Given the description of an element on the screen output the (x, y) to click on. 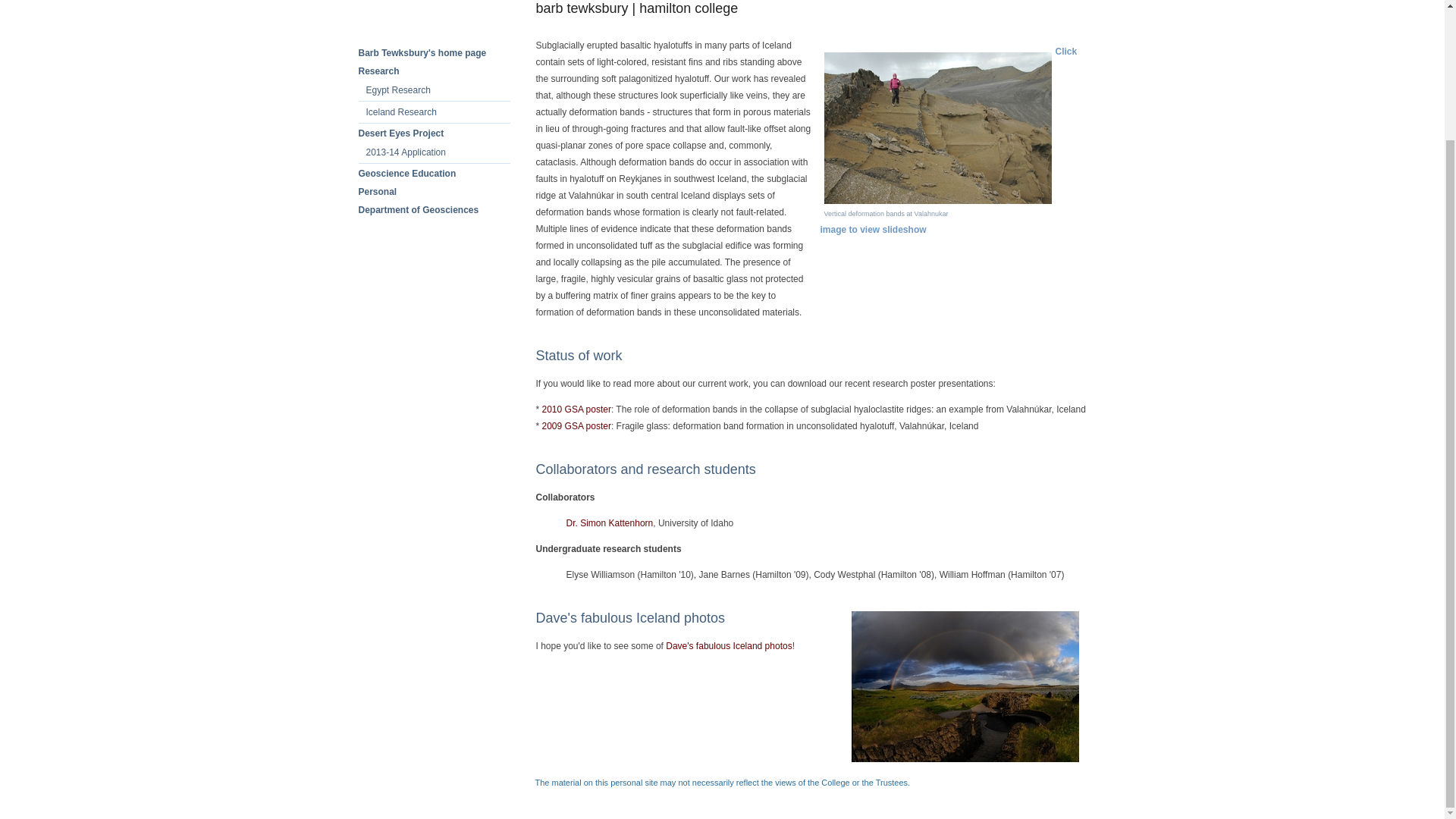
Egypt Research (397, 90)
2010 GSA poster (576, 409)
Dr. Simon Kattenhorn (609, 522)
Personal (377, 191)
Vertical deformation bands at Valahnukar  (937, 200)
Iceland Research (400, 112)
Barb Tewksbury's home page (422, 52)
2009 GSA poster (576, 425)
Geoscience Education (406, 173)
2013-14 Application (405, 152)
Desert Eyes Project (401, 132)
Research (378, 71)
Dave's fabulous Iceland photos (728, 645)
Department of Geosciences (418, 209)
